Given the description of an element on the screen output the (x, y) to click on. 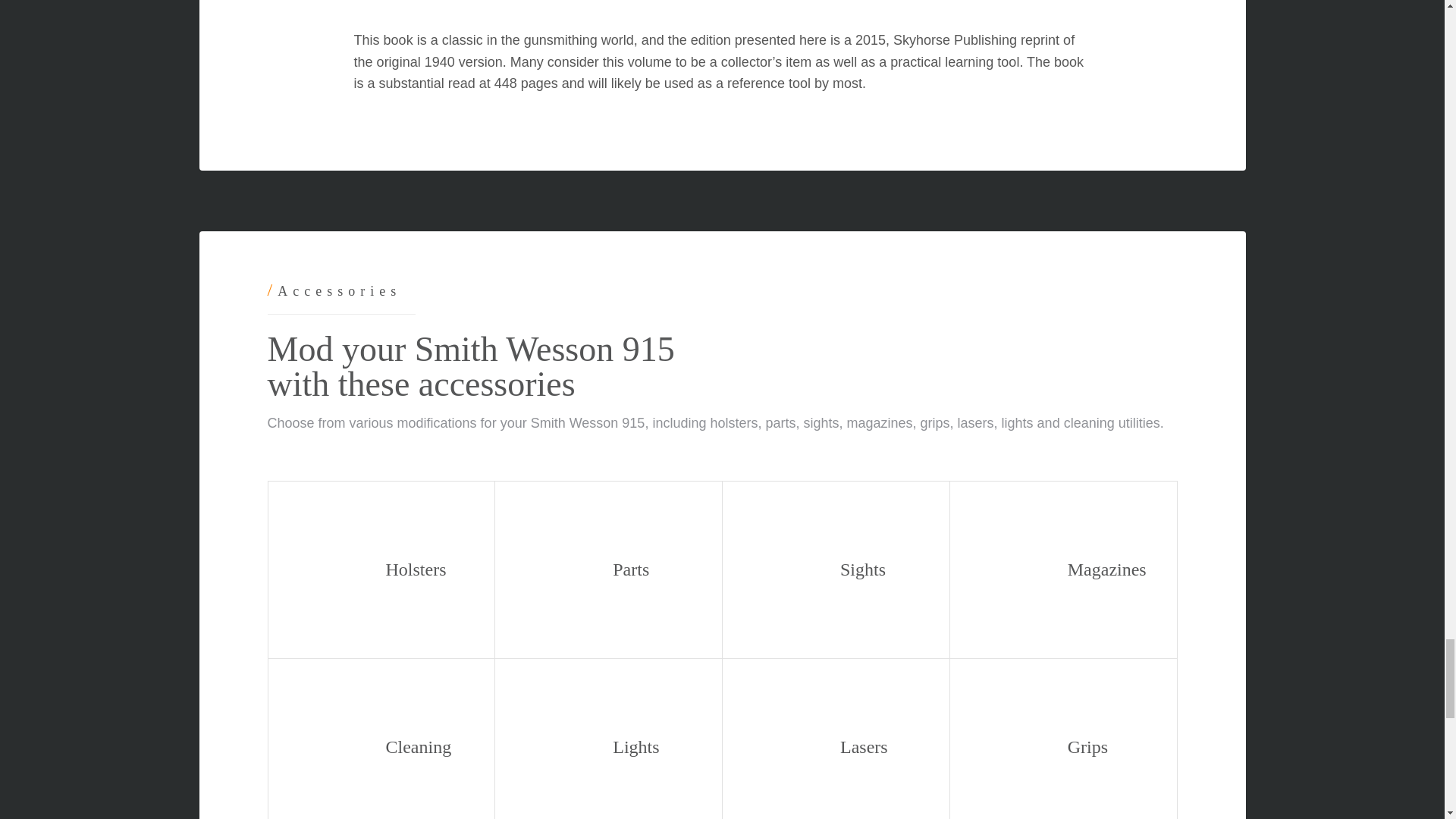
Magazines (1063, 569)
Sights (835, 569)
Cleaning (381, 739)
Parts (608, 569)
Holsters (381, 569)
Lights (608, 739)
